Given the description of an element on the screen output the (x, y) to click on. 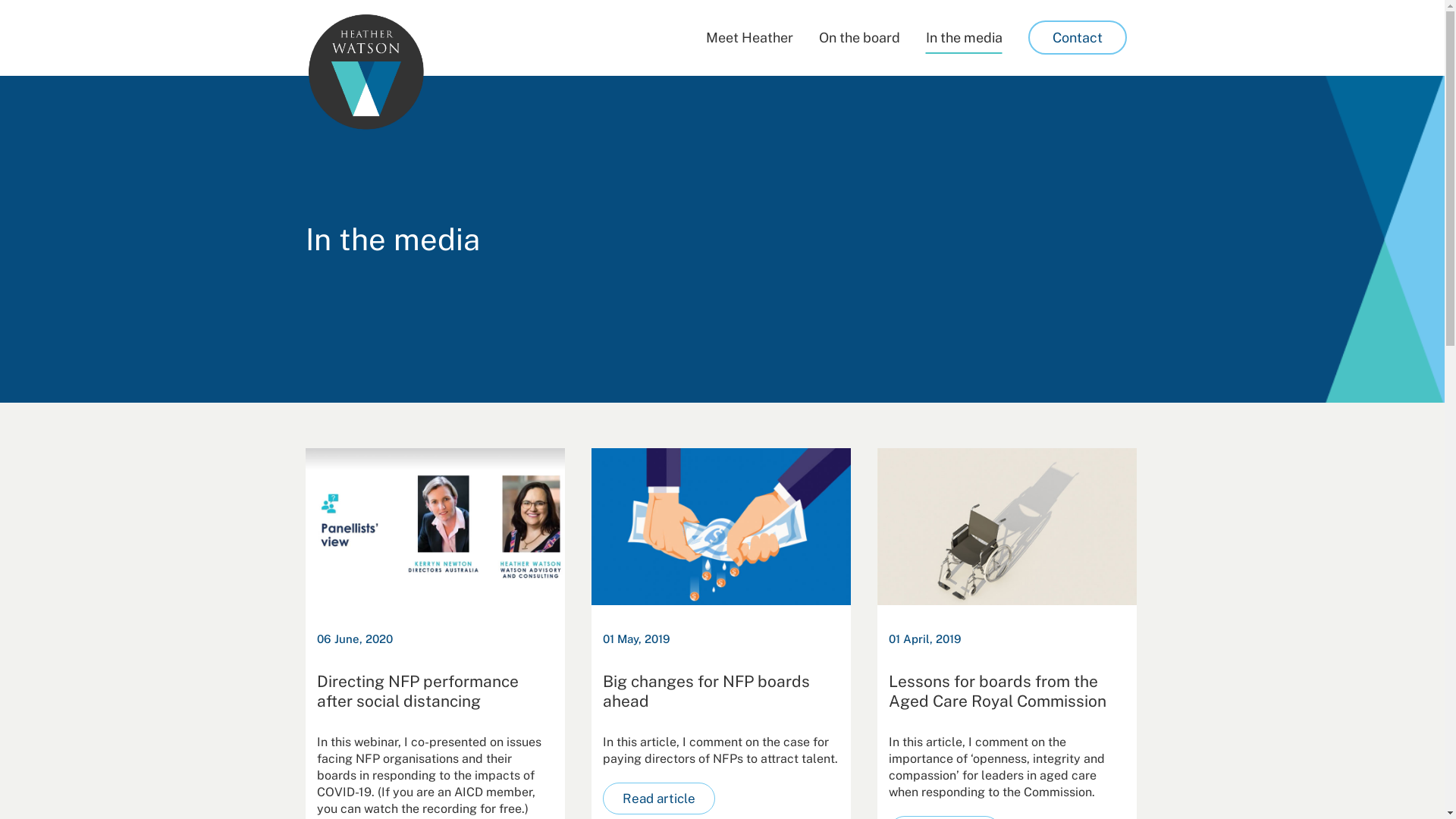
Big changes for NFP boards ahead Element type: text (720, 691)
Big changes for NFP boards ahead Element type: hover (720, 526)
Lessons for boards from the Aged Care Royal Commission Element type: hover (1005, 526)
In the media Element type: text (964, 37)
Meet Heather Element type: text (749, 37)
Read article Element type: text (658, 798)
Directing NFP performance after social distancing Element type: text (434, 691)
Directing NFP performance after social distancing Element type: hover (434, 526)
Lessons for boards from the Aged Care Royal Commission Element type: text (1006, 691)
Contact Element type: text (1076, 37)
On the board Element type: text (858, 37)
